Given the description of an element on the screen output the (x, y) to click on. 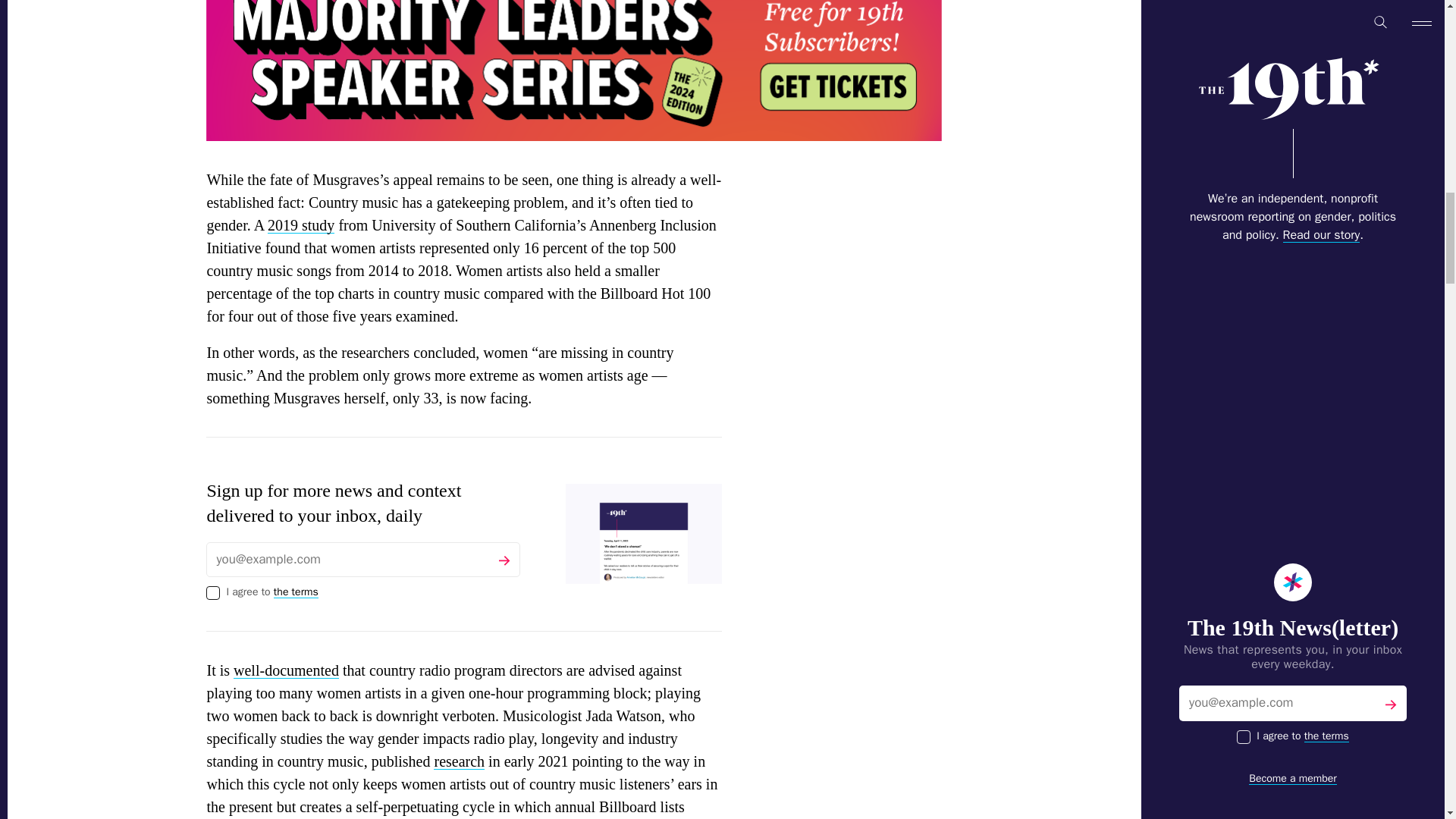
Speaker Series 970x250 (574, 70)
on (212, 592)
